Given the description of an element on the screen output the (x, y) to click on. 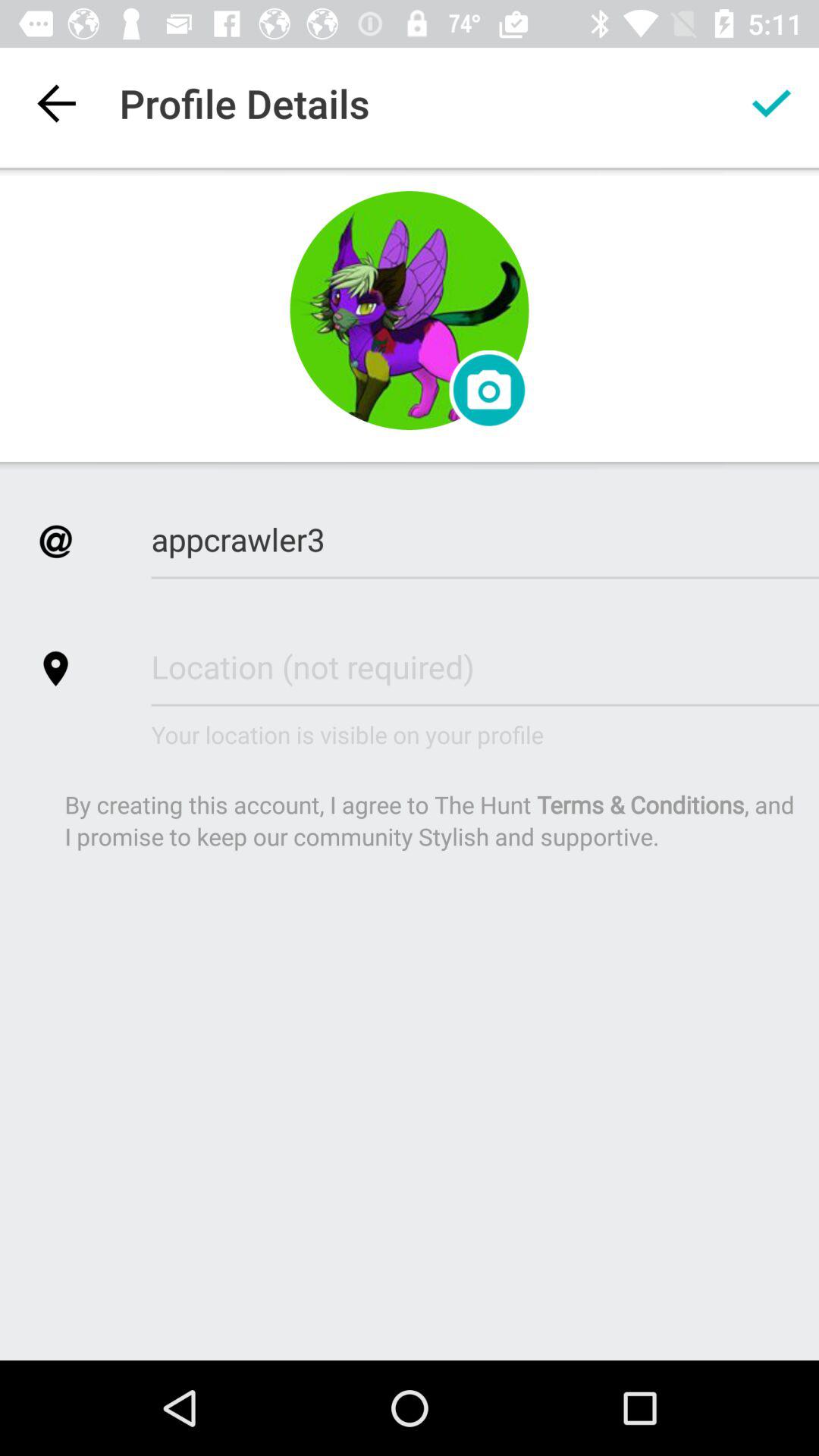
click icon below the your location is (430, 820)
